Given the description of an element on the screen output the (x, y) to click on. 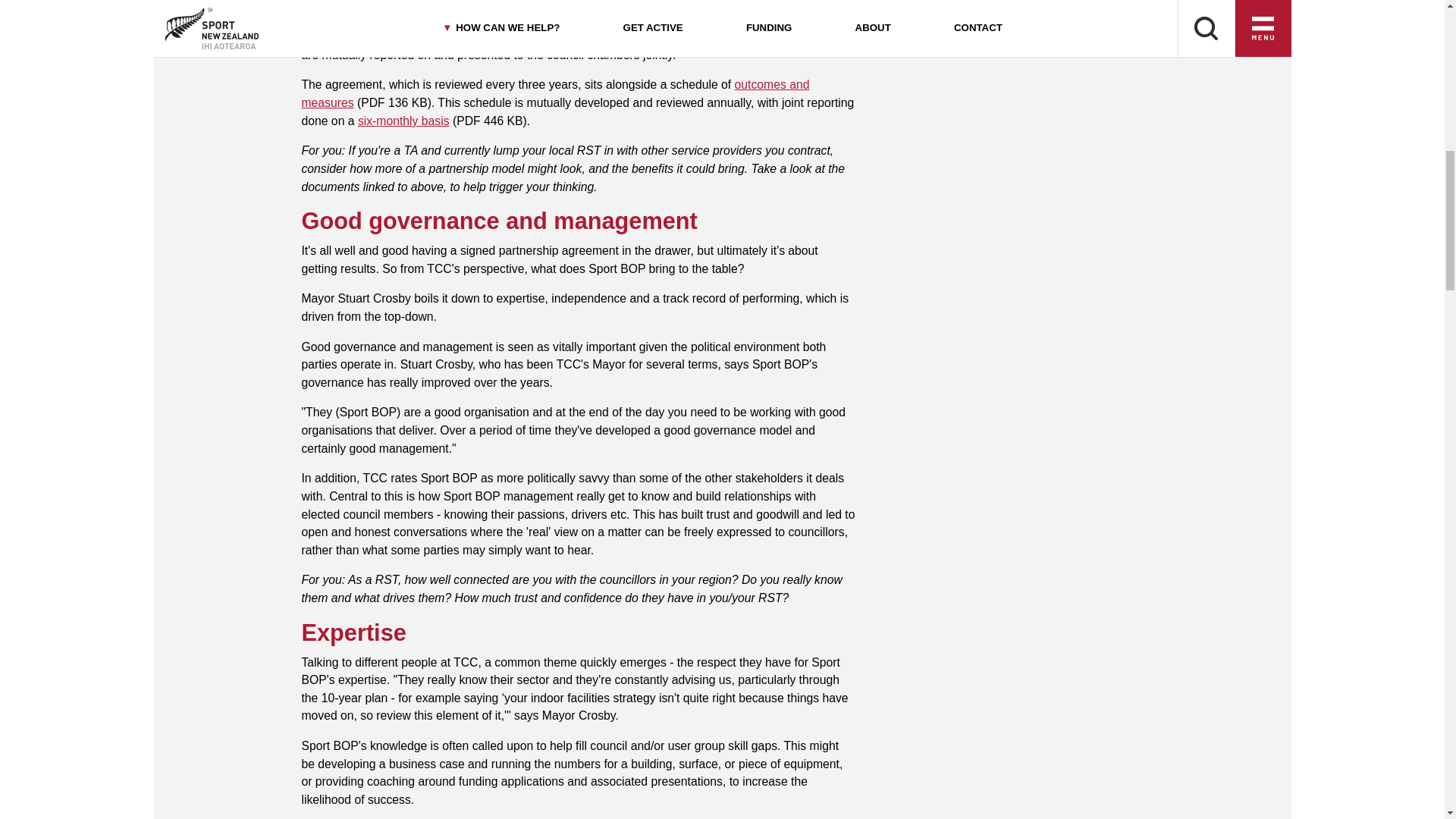
Sport Bay Of Plenty Report For The Half Year July Dec 2013 (403, 120)
Relationship Agreement (595, 3)
Schedule One - Schedule Of Outcomes 2013 14 (555, 92)
